Given the description of an element on the screen output the (x, y) to click on. 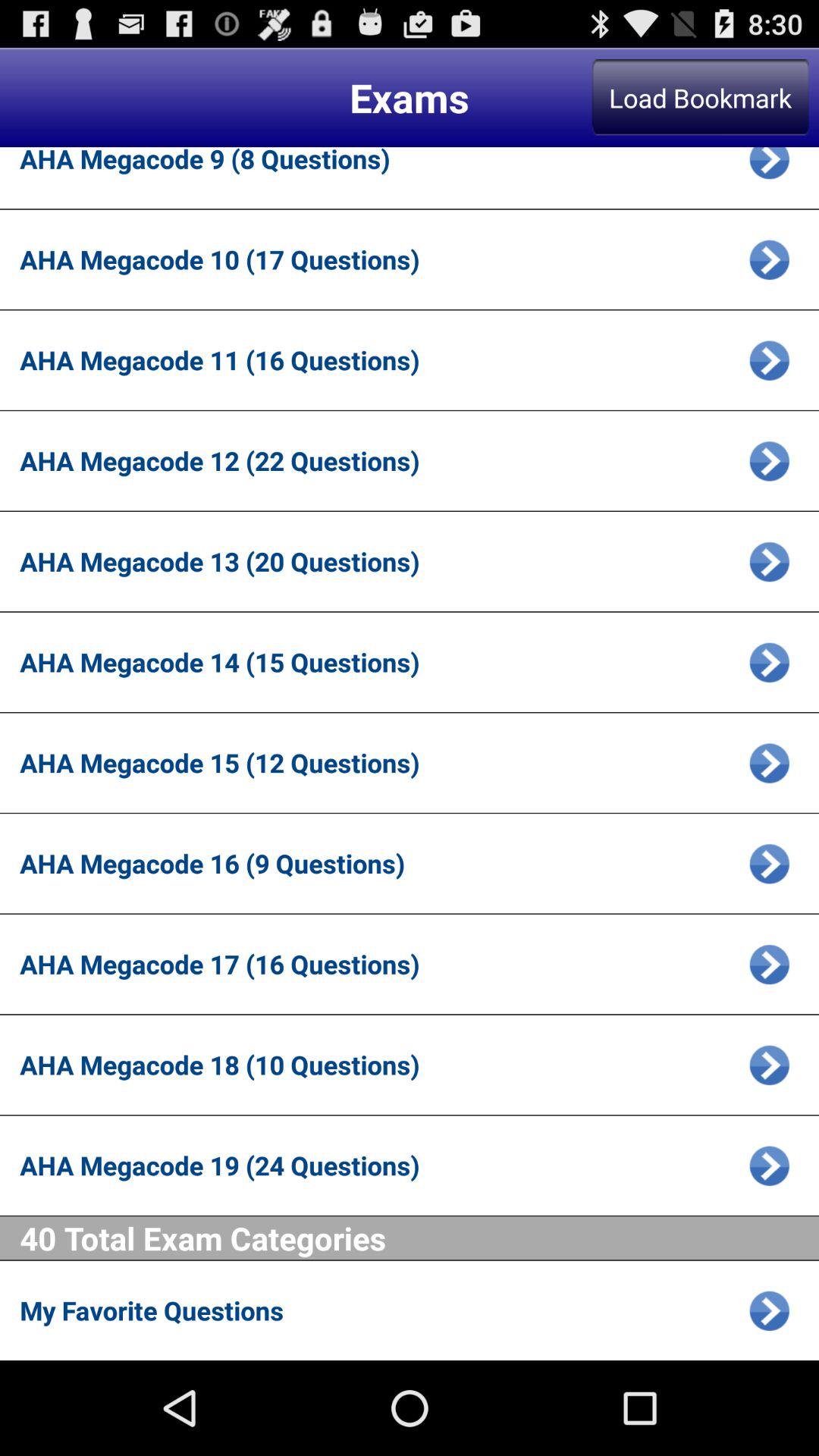
go to next (769, 1310)
